Given the description of an element on the screen output the (x, y) to click on. 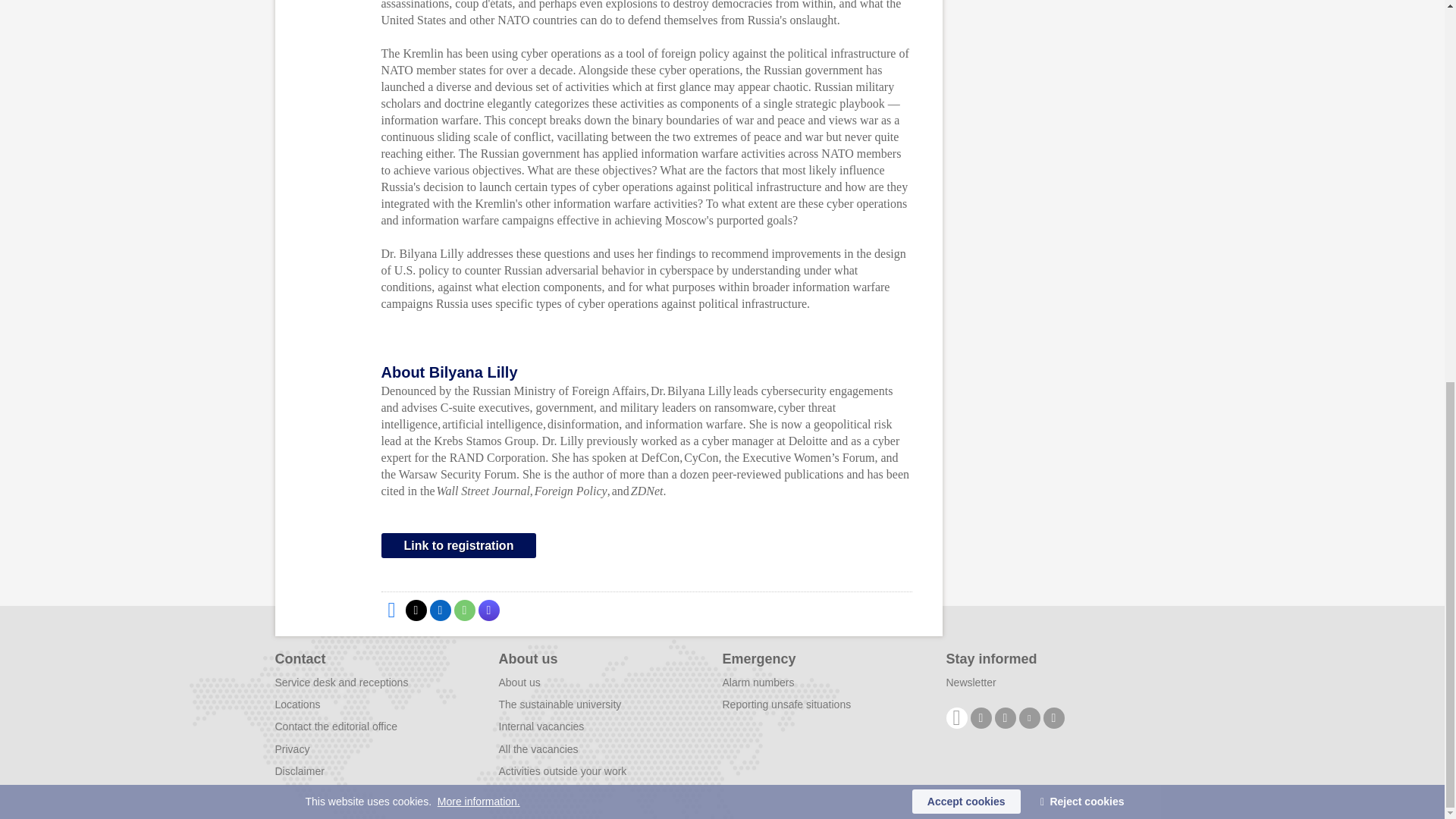
Share on LinkedIn (439, 609)
Share by WhatsApp (463, 609)
Share on X (415, 609)
Share on Facebook (390, 609)
Share by Mastodon (488, 609)
